Given the description of an element on the screen output the (x, y) to click on. 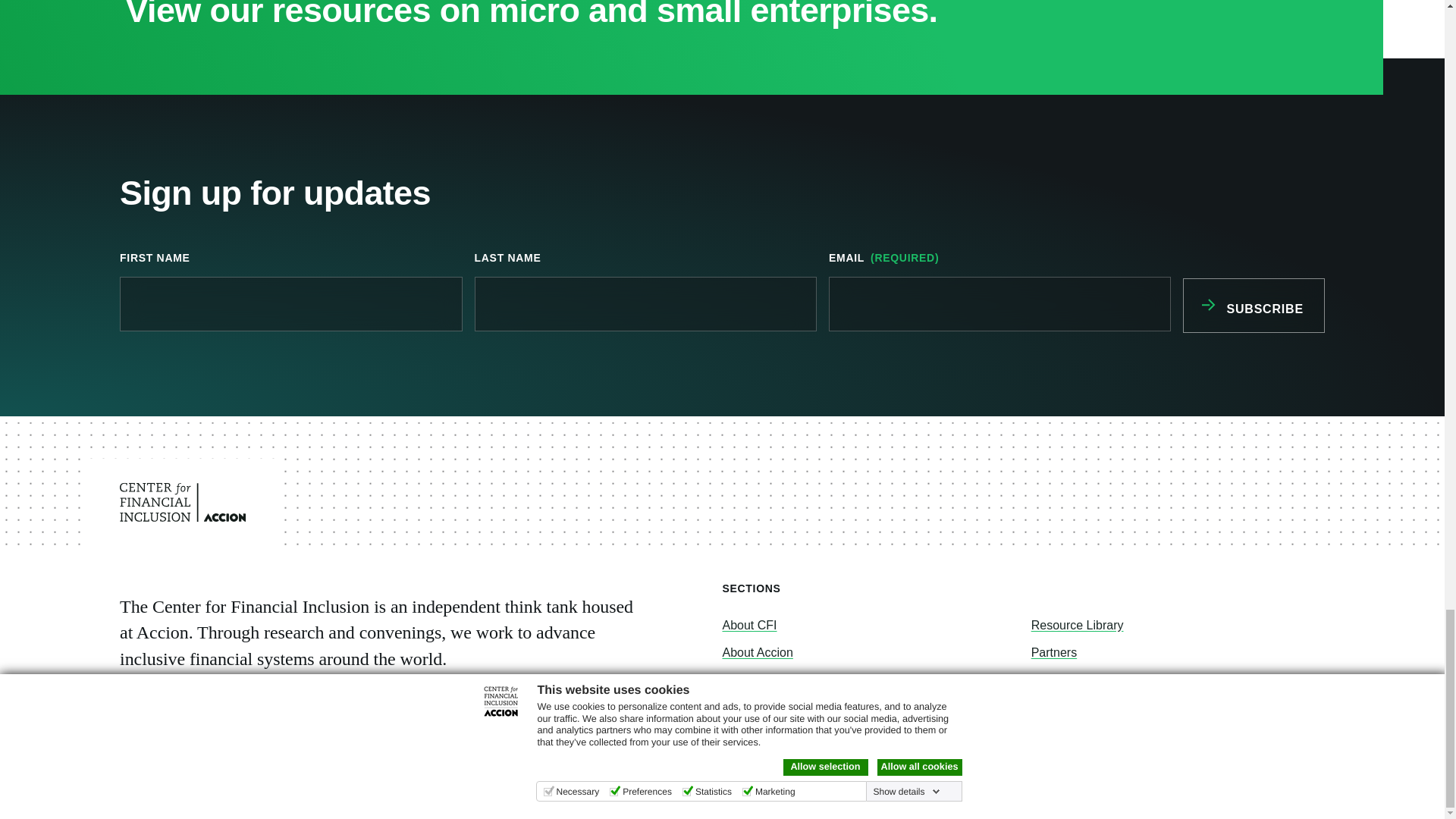
LinkedIn (187, 785)
YouTube (259, 785)
Center for Financial Inclusion (182, 502)
subscribe (1252, 305)
